Given the description of an element on the screen output the (x, y) to click on. 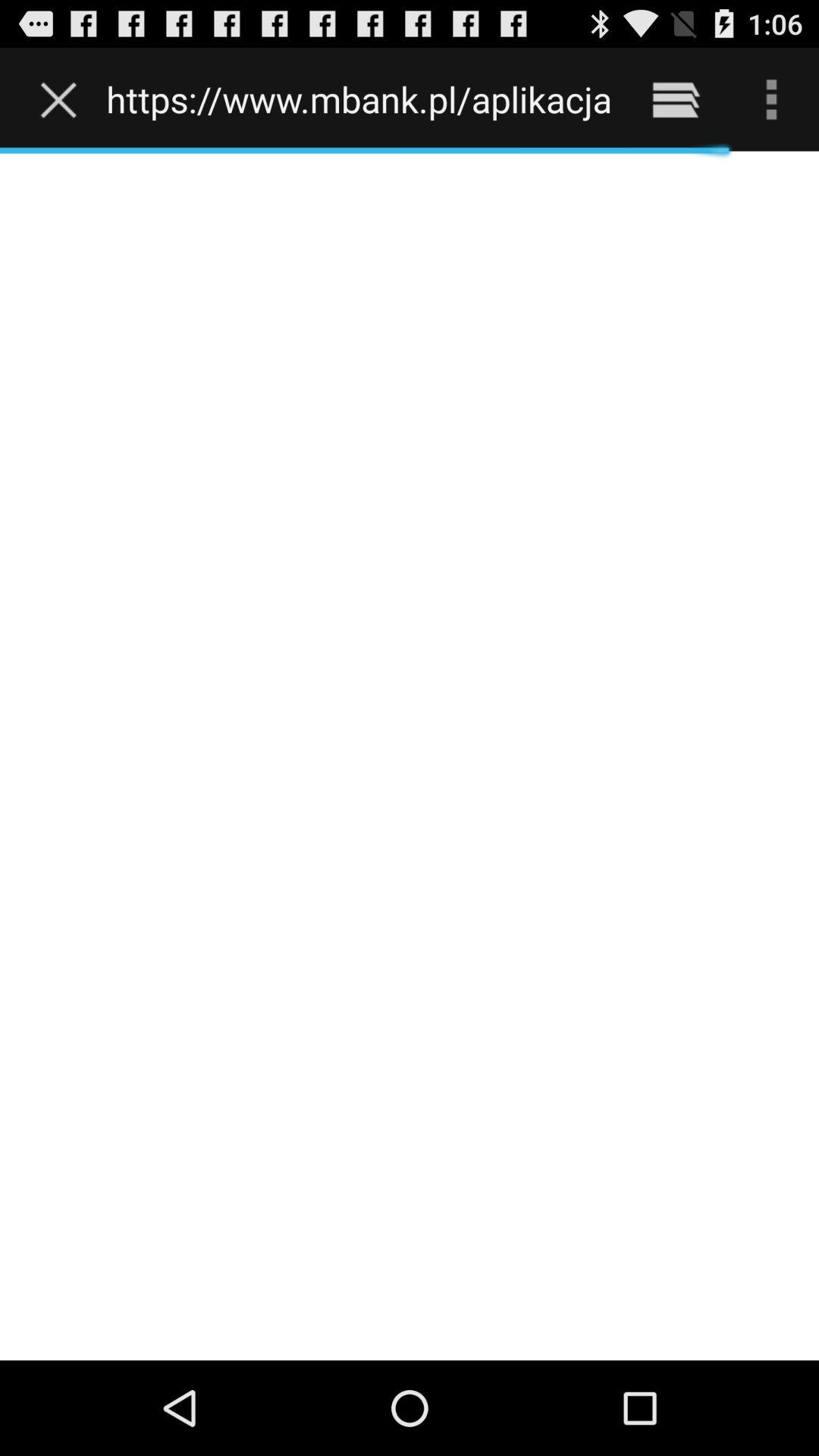
select https www mbank icon (357, 99)
